Given the description of an element on the screen output the (x, y) to click on. 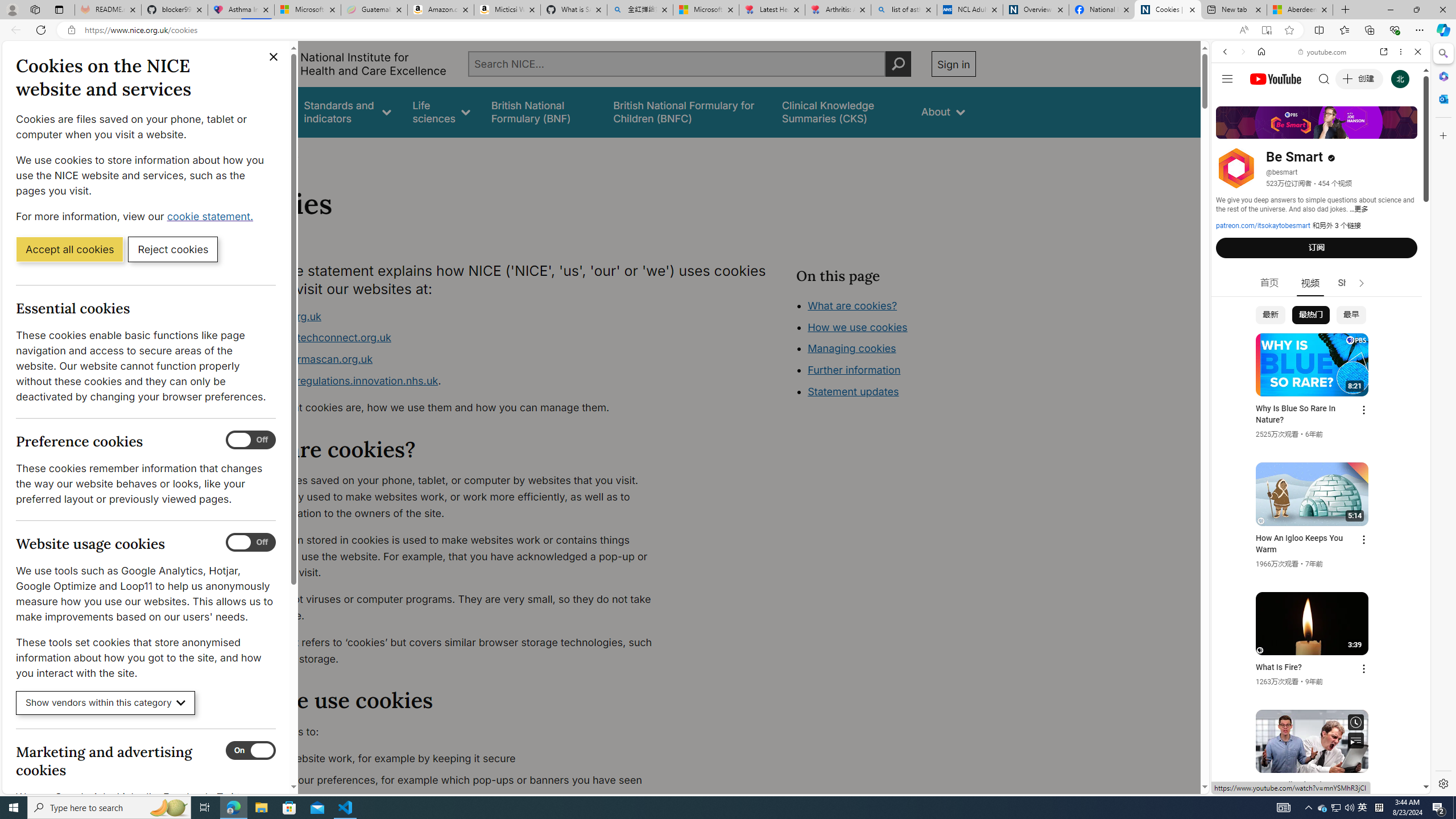
US[ju] (1249, 785)
www.nice.org.uk (279, 315)
www.ukpharmascan.org.uk (305, 359)
Trailer #2 [HD] (1320, 337)
